Given the description of an element on the screen output the (x, y) to click on. 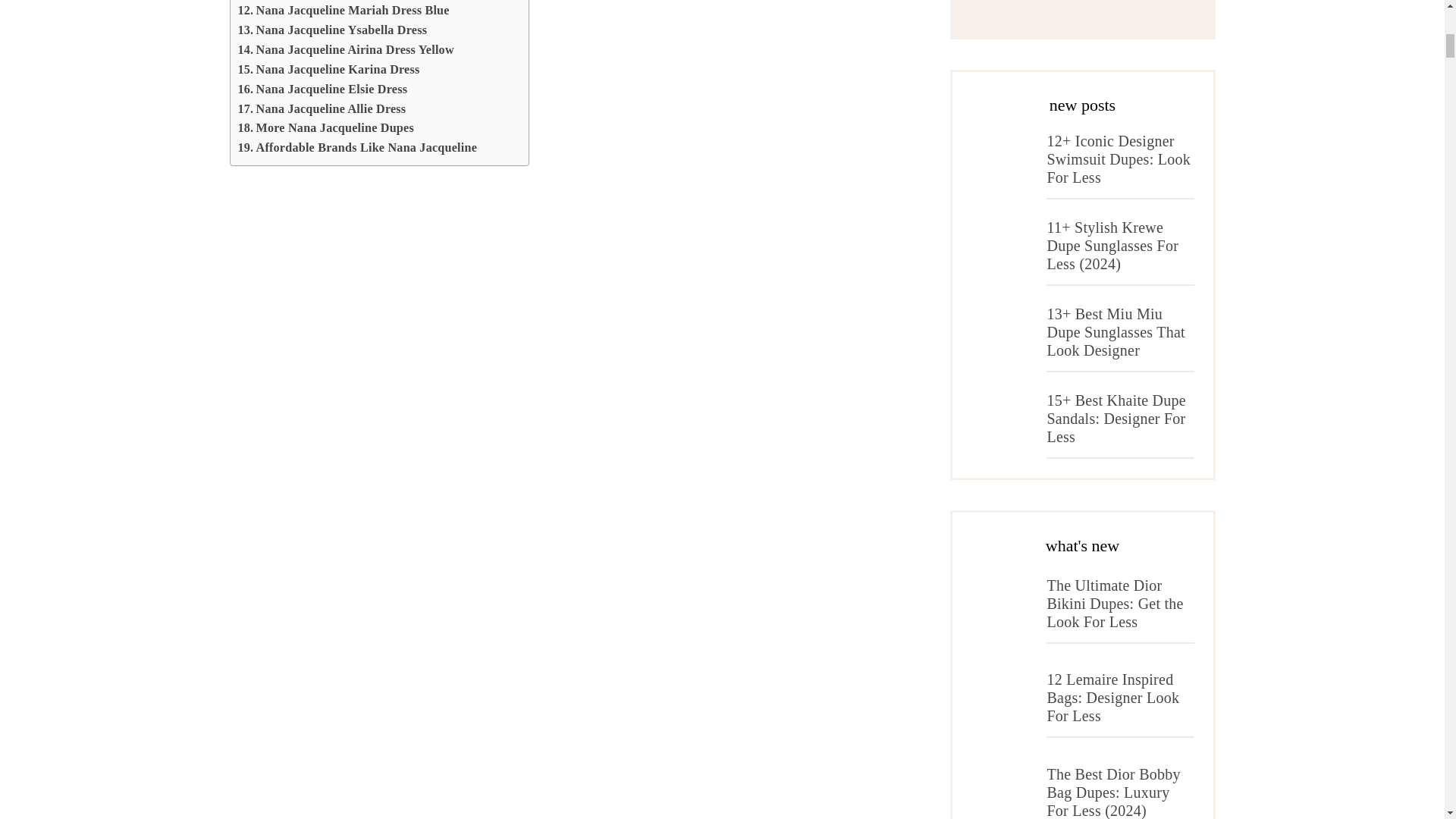
Nana Jacqueline Mariah Dress Blue (343, 10)
Nana Jacqueline Ysabella Dress (333, 30)
Nana Jacqueline Airina Dress Yellow (346, 49)
